Given the description of an element on the screen output the (x, y) to click on. 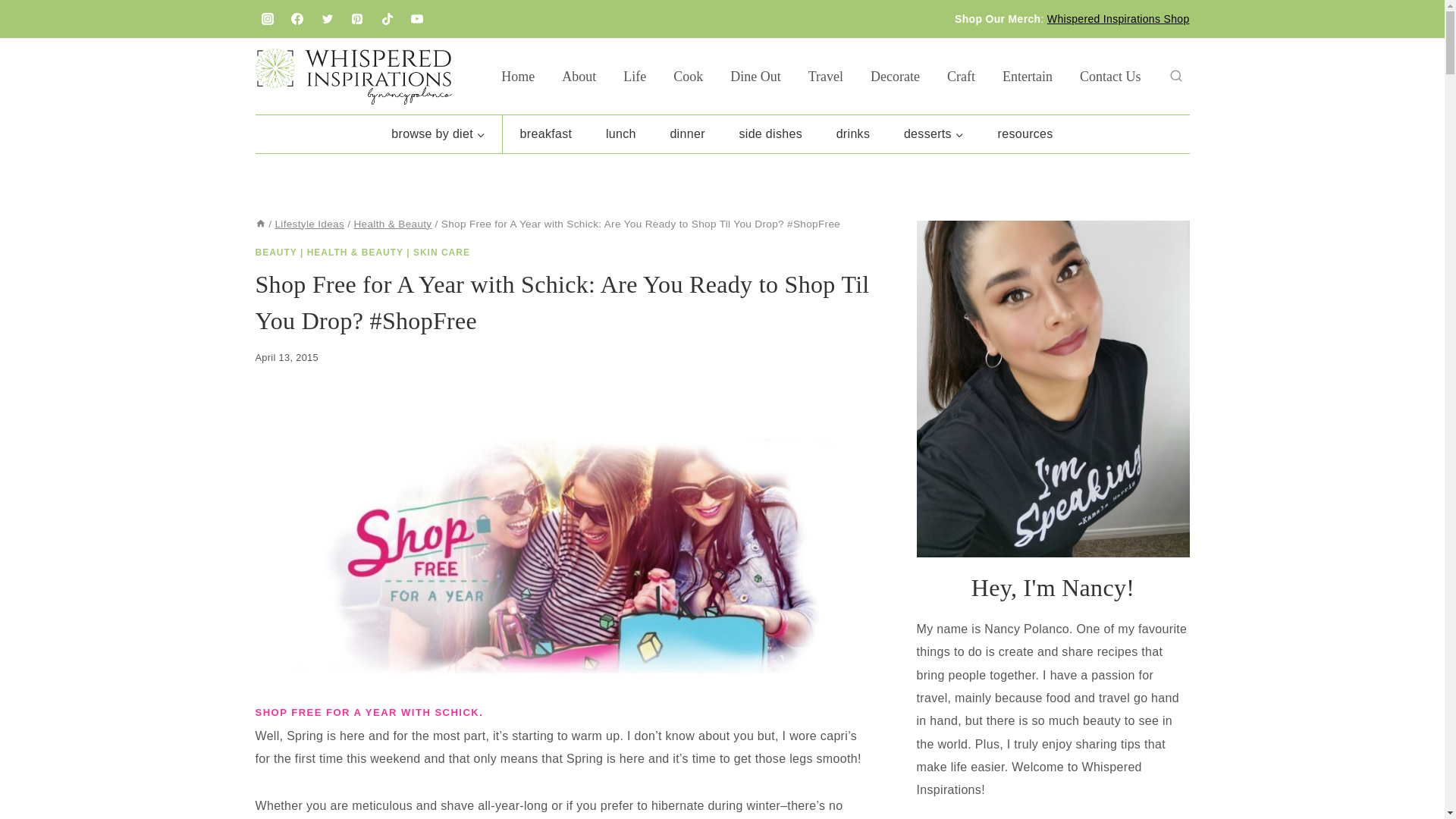
lunch (620, 134)
drinks (852, 134)
breakfast (545, 134)
desserts (933, 134)
Cook (687, 76)
dinner (687, 134)
browse by diet (438, 134)
Craft (960, 76)
Dine Out (755, 76)
resources (1024, 134)
Decorate (895, 76)
Contact Us (1109, 76)
Home (259, 224)
About (579, 76)
side dishes (770, 134)
